Given the description of an element on the screen output the (x, y) to click on. 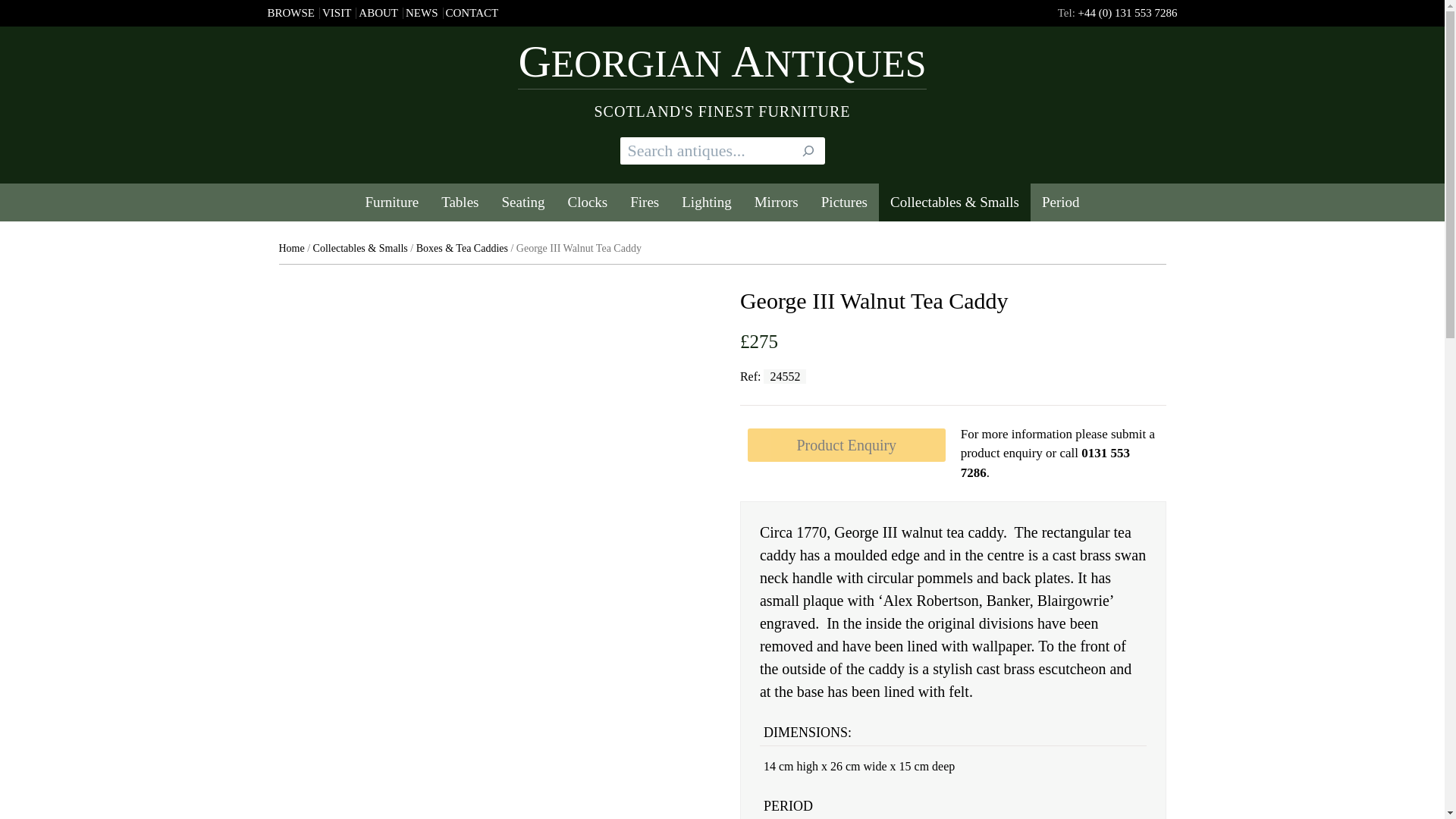
NEWS (422, 12)
BROWSE (290, 12)
PC221327.jpg (490, 774)
PC221333.jpg (661, 774)
GEORGIAN ANTIQUES (722, 65)
PC221326.jpg (406, 774)
CONTACT (472, 12)
24552.jpg (320, 774)
PC221329.jpg (576, 774)
Furniture (391, 202)
Tables (459, 202)
ABOUT (377, 12)
Seating (522, 202)
VISIT (335, 12)
